Given the description of an element on the screen output the (x, y) to click on. 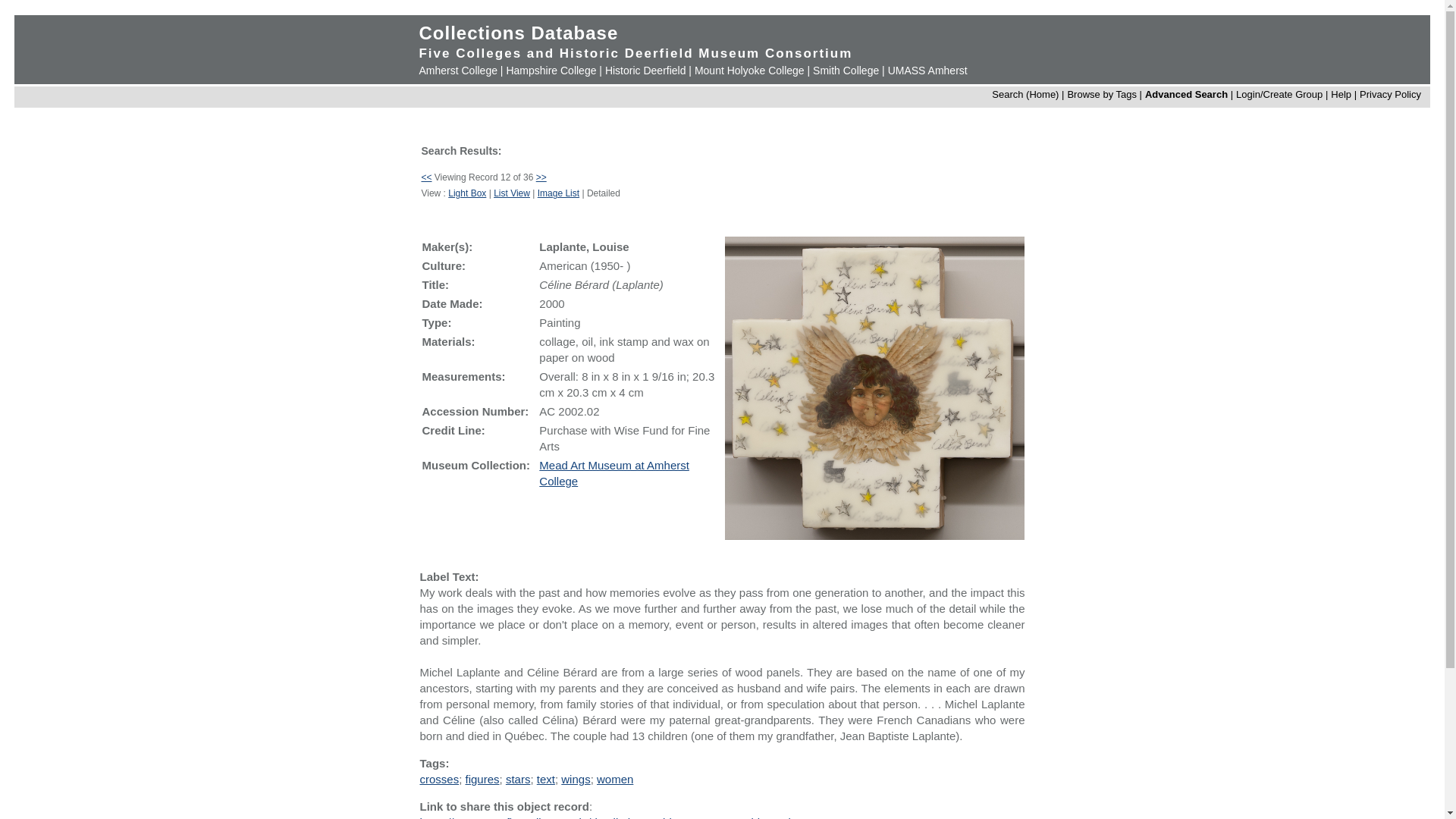
List View (511, 193)
Browse by Tags (1102, 93)
wings (574, 779)
Light Box (467, 193)
crosses (438, 779)
text (545, 779)
UMASS Amherst (928, 70)
Historic Deerfield (645, 70)
Help (1340, 93)
Hampshire College (550, 70)
stars (518, 779)
Mead Art Museum at Amherst College (613, 472)
Mount Holyoke College (749, 70)
Smith College (845, 70)
Collections Database (518, 32)
